Given the description of an element on the screen output the (x, y) to click on. 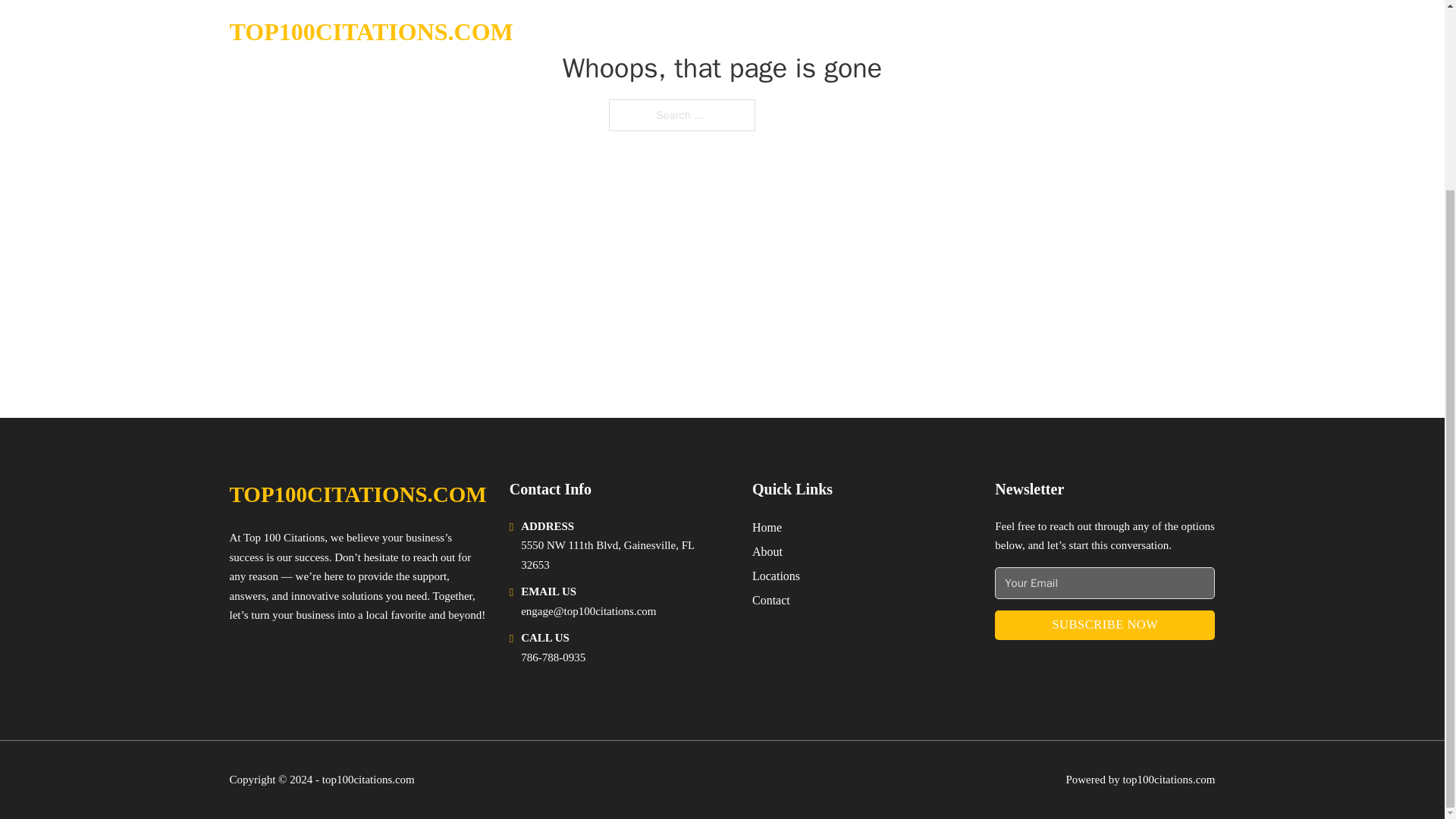
About (767, 551)
Contact (771, 599)
TOP100CITATIONS.COM (357, 494)
Home (766, 526)
786-788-0935 (553, 657)
SUBSCRIBE NOW (1104, 624)
Locations (775, 575)
